Given the description of an element on the screen output the (x, y) to click on. 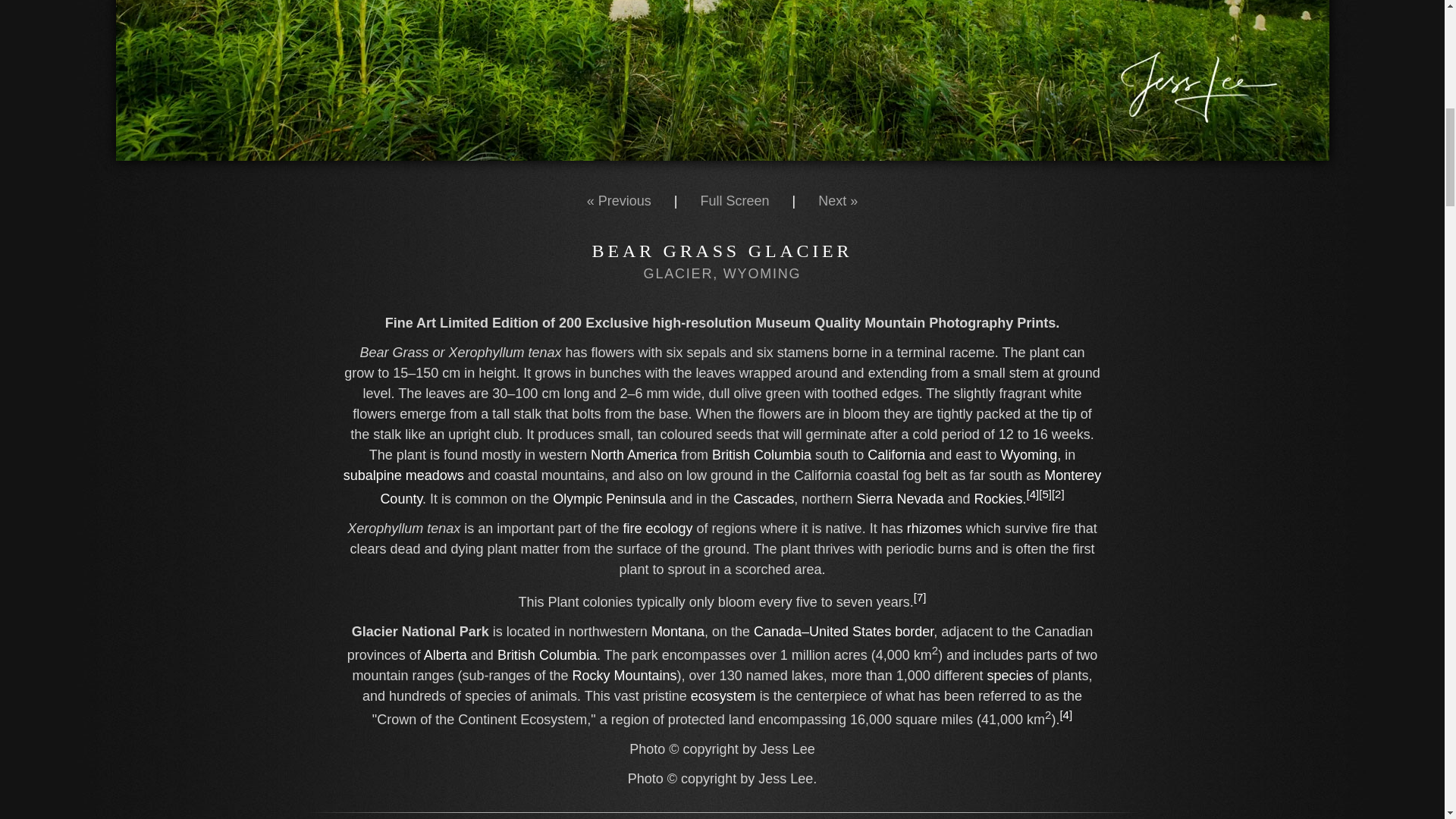
Monterey County (740, 486)
Sierra Nevada (899, 498)
British Columbia (546, 654)
North America (634, 454)
ecosystem (722, 695)
Previous Photo (618, 200)
Rocky Mountains (998, 498)
British Columbia (760, 454)
North America (634, 454)
